Given the description of an element on the screen output the (x, y) to click on. 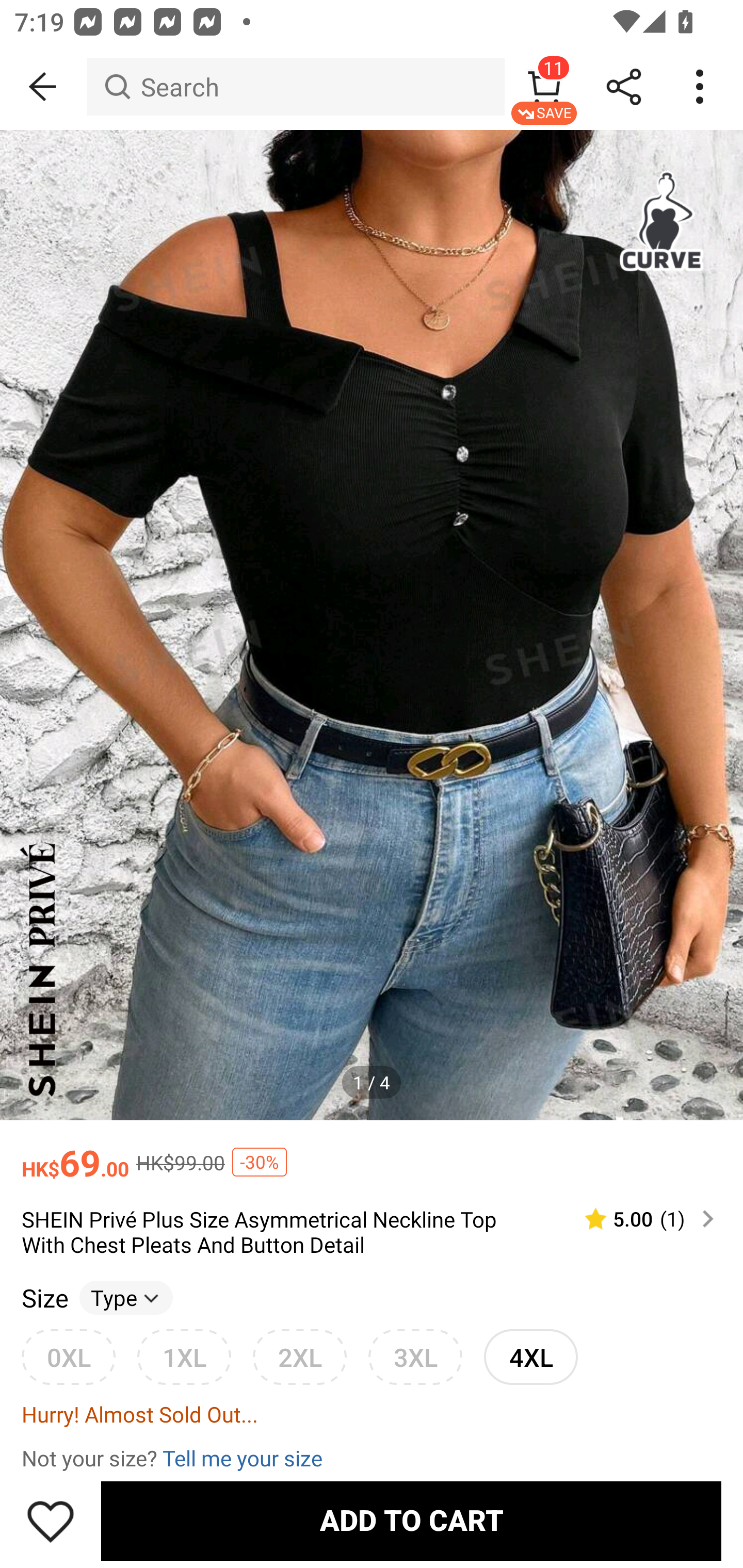
BACK (43, 86)
11 SAVE (543, 87)
Search (295, 87)
1 / 4 (371, 1082)
HK$69.00 HK$99.00 -30% (371, 1152)
5.00 (1) (640, 1219)
Size (44, 1297)
Type (126, 1297)
0XL (68, 1356)
1XL (184, 1356)
2XL (299, 1356)
3XL (415, 1356)
4XL 4XLunselected option (530, 1356)
Hurry! Almost Sold Out... (371, 1413)
Not your size? Tell me your size (371, 1457)
ADD TO CART (411, 1520)
Save (50, 1520)
